Given the description of an element on the screen output the (x, y) to click on. 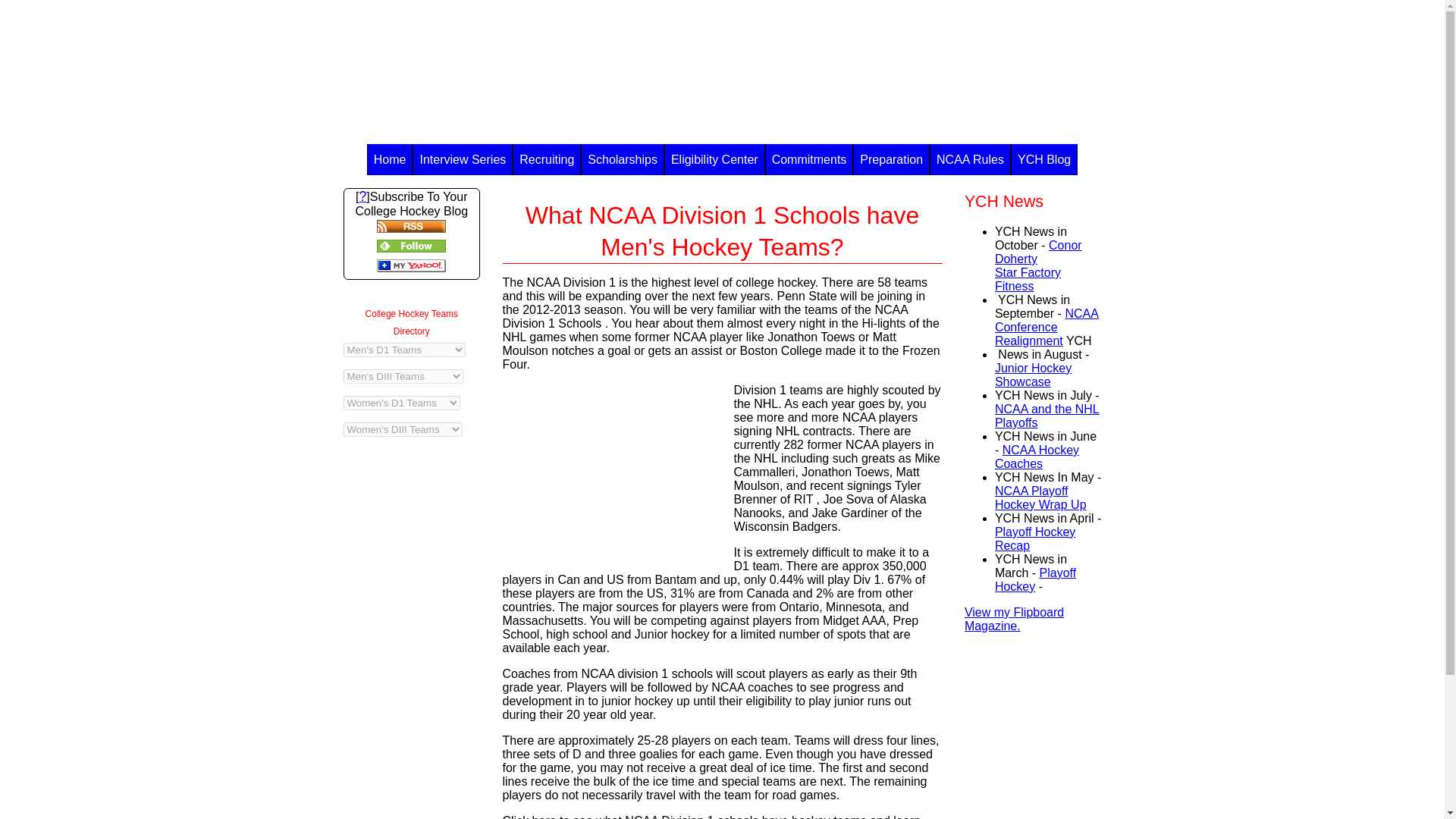
Home (390, 159)
NCAA Rules (970, 159)
NCAA Playoff Hockey Wrap Up (1040, 497)
Junior Hockey Showcase (1032, 374)
Eligibility Center (714, 159)
Commitments (809, 159)
Recruiting (1037, 265)
Preparation (546, 159)
View my Flipboard Magazine. (890, 159)
